Given the description of an element on the screen output the (x, y) to click on. 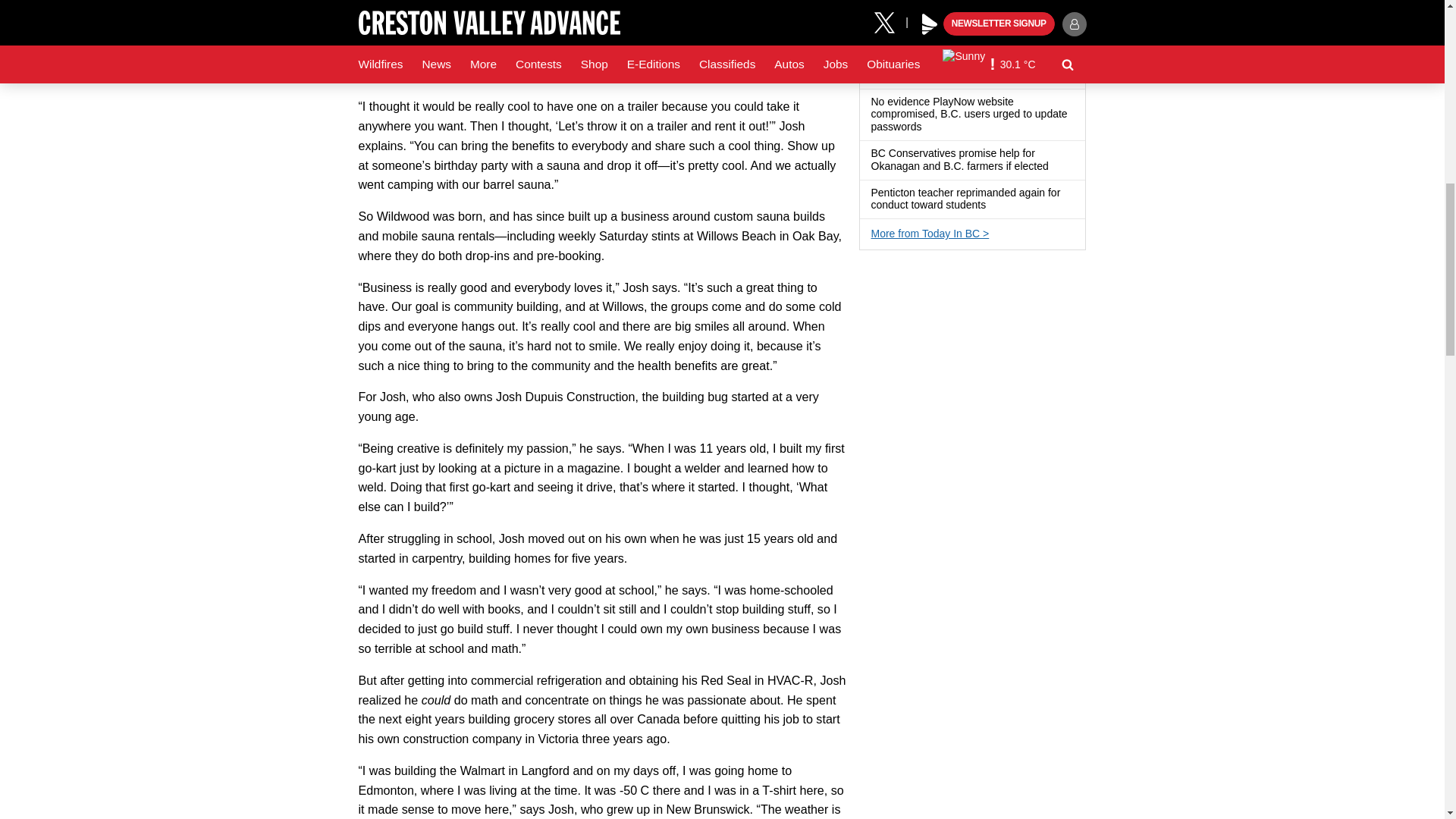
Has a gallery (1027, 36)
Wildwood Saunas (730, 5)
Wildwood Saunas (680, 5)
